Given the description of an element on the screen output the (x, y) to click on. 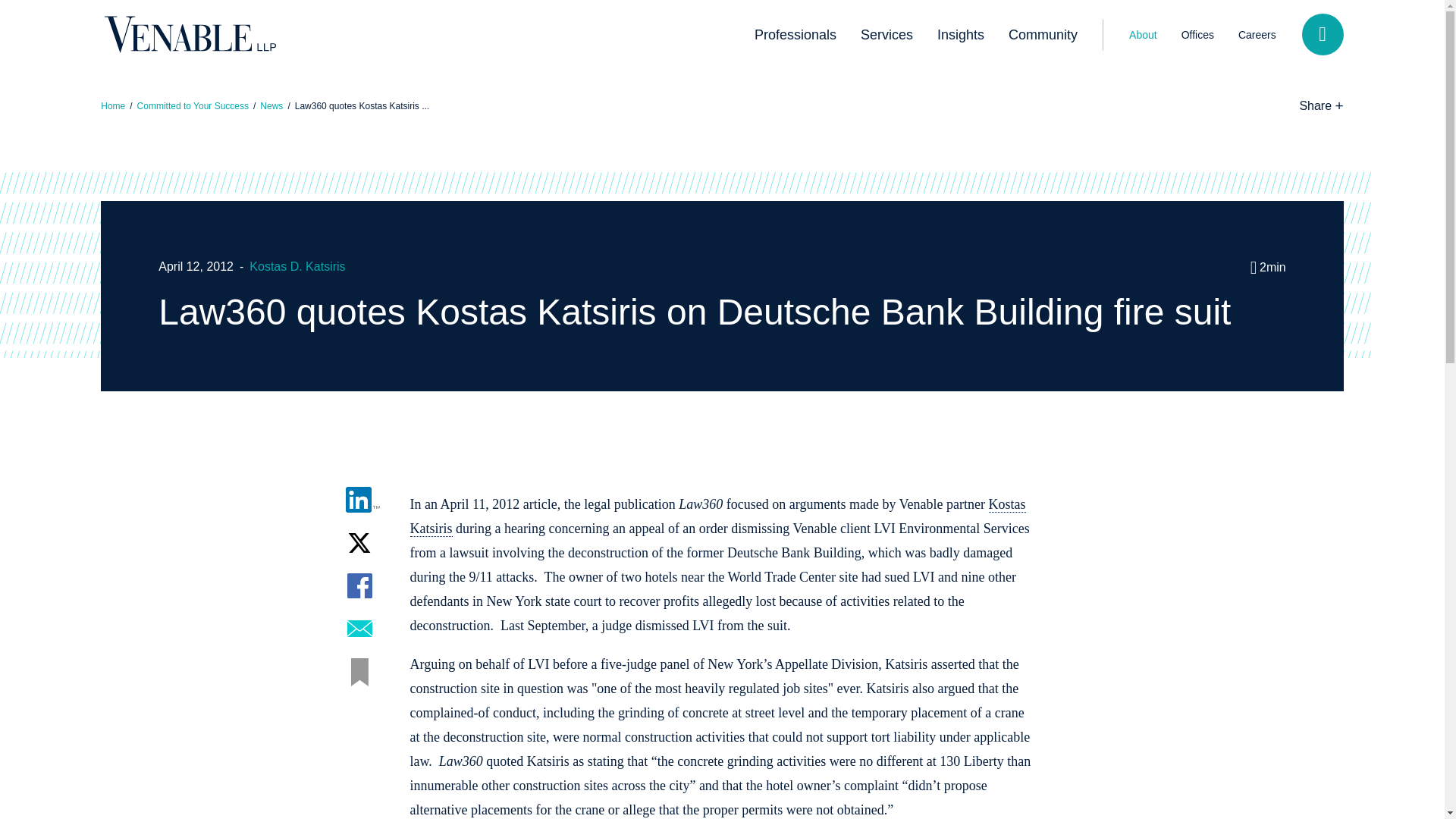
Kostas D. Katsiris (296, 266)
Committed to Your Success (192, 105)
Home (112, 105)
Services (886, 34)
News (271, 105)
About (1142, 34)
Professionals (795, 34)
Kostas Katsiris (717, 516)
Careers (1256, 34)
Offices (1197, 34)
Community (1042, 34)
Insights (959, 34)
